Given the description of an element on the screen output the (x, y) to click on. 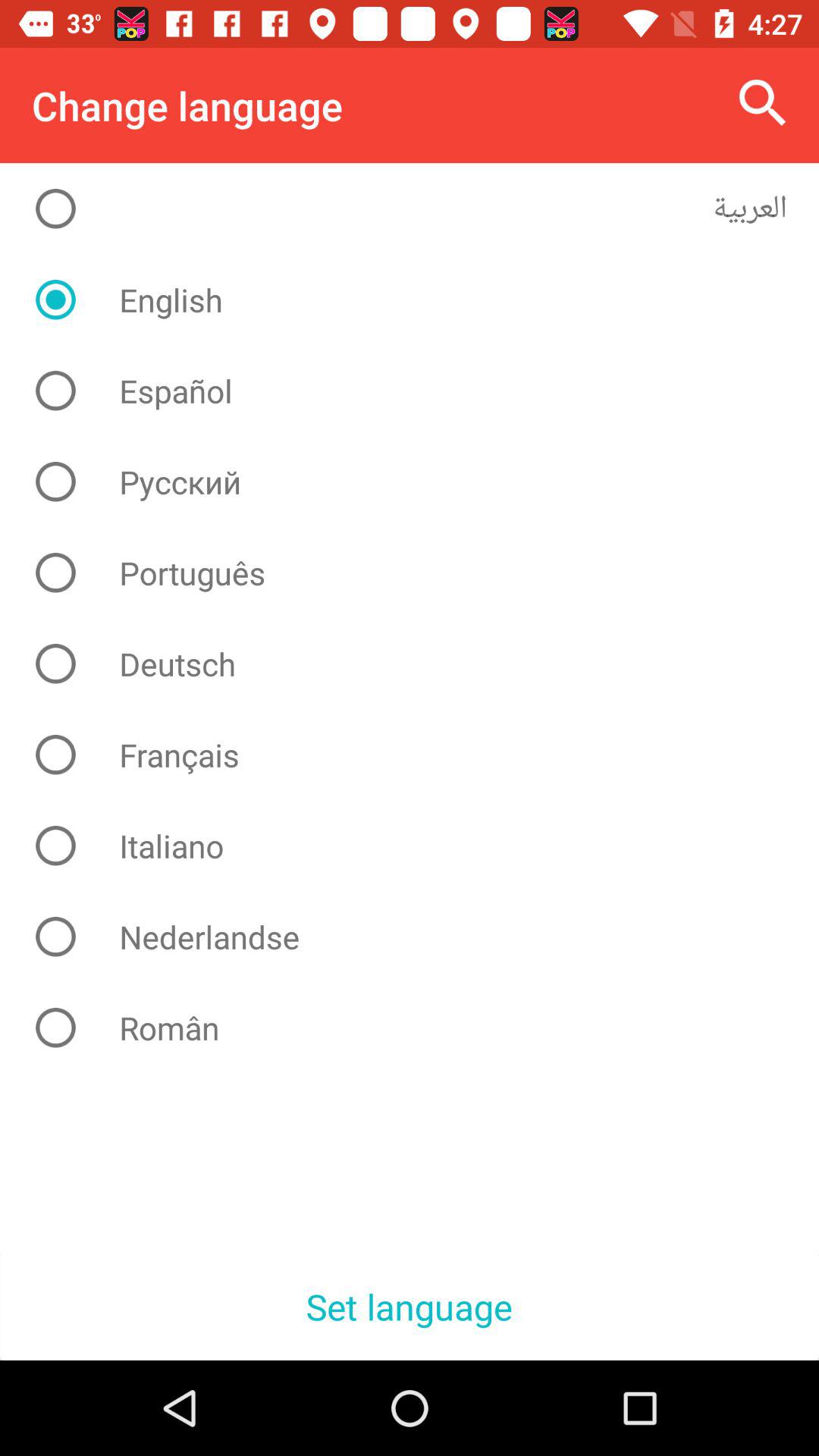
jump until the italiano item (421, 845)
